Given the description of an element on the screen output the (x, y) to click on. 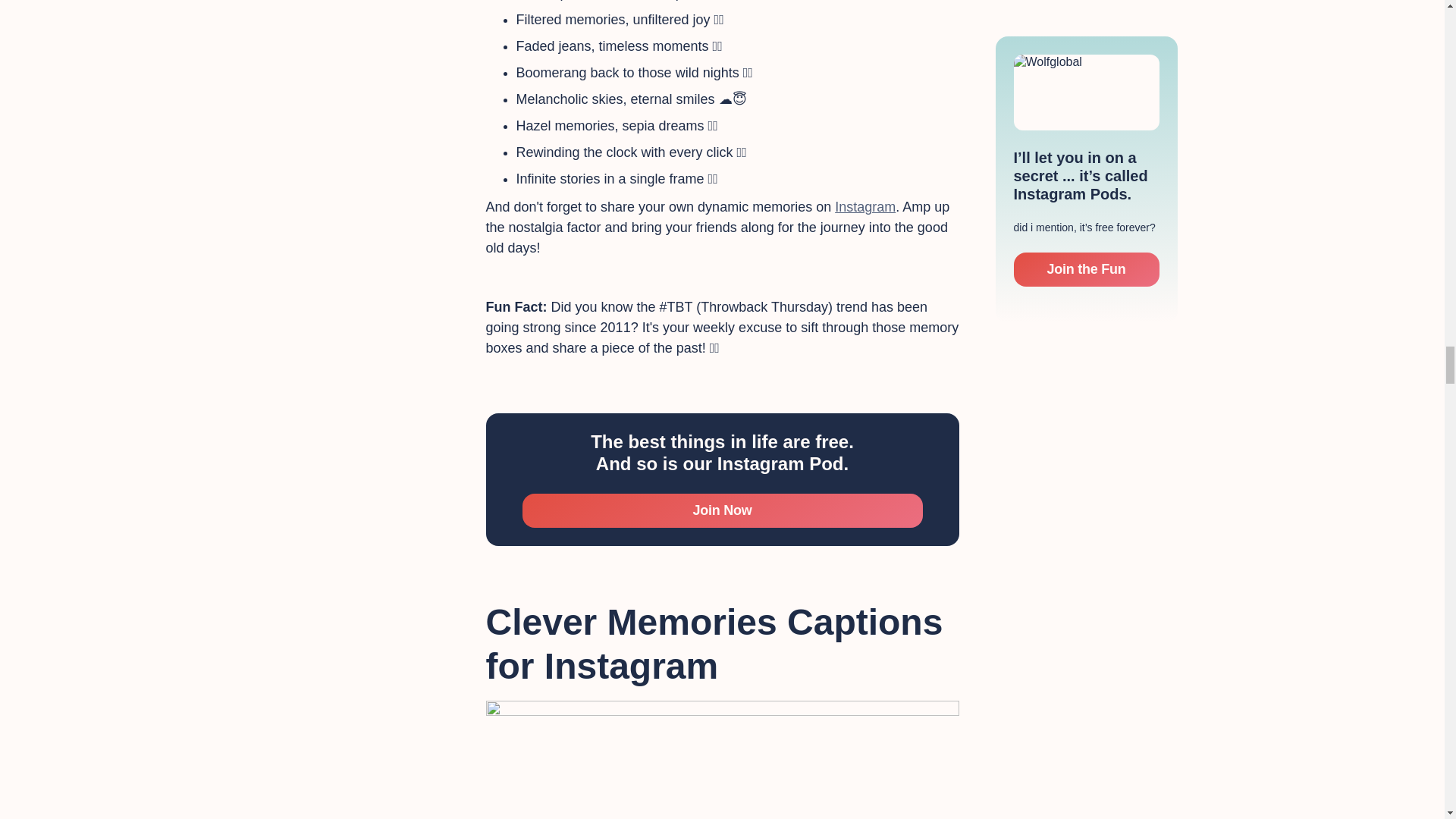
Join Now (721, 510)
Instagram (864, 206)
